Given the description of an element on the screen output the (x, y) to click on. 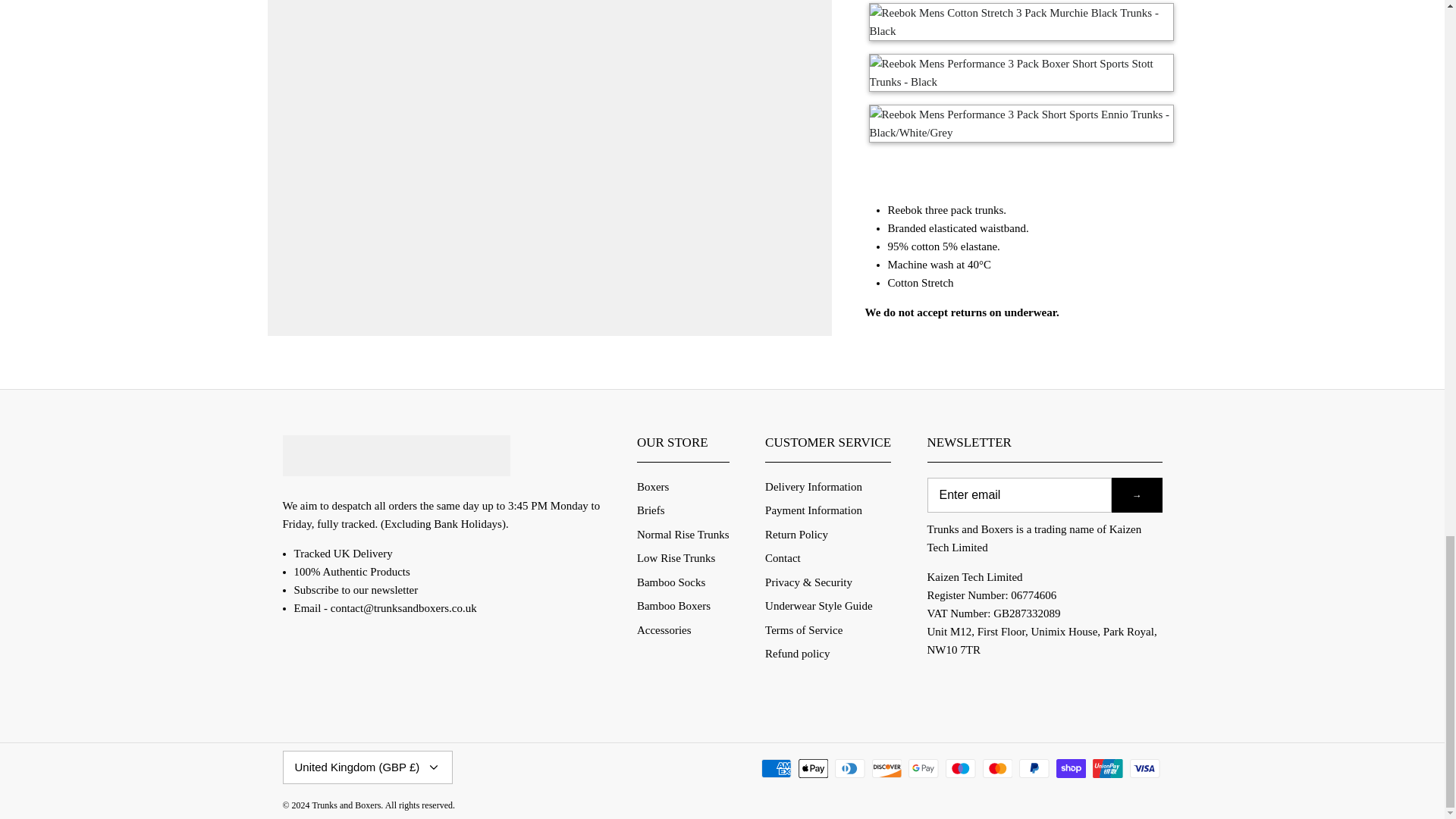
Diners Club (849, 768)
Shop Pay (1071, 768)
Visa (1144, 768)
Union Pay (1107, 768)
Down (433, 766)
Google Pay (923, 768)
Discover (887, 768)
Mastercard (997, 768)
Apple Pay (812, 768)
PayPal (1034, 768)
American Express (776, 768)
Maestro (959, 768)
